Given the description of an element on the screen output the (x, y) to click on. 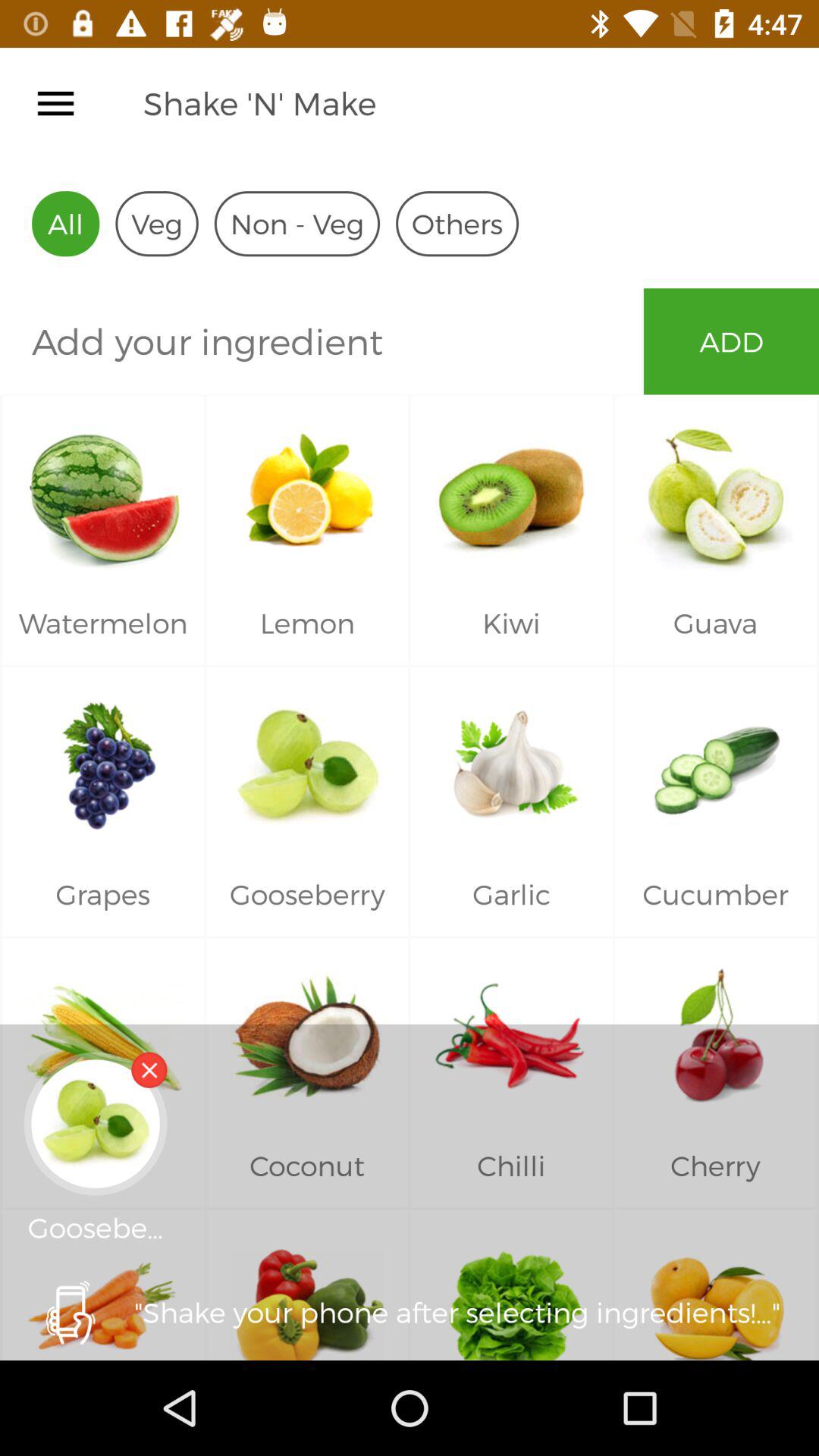
turn off the non - veg icon (296, 223)
